Given the description of an element on the screen output the (x, y) to click on. 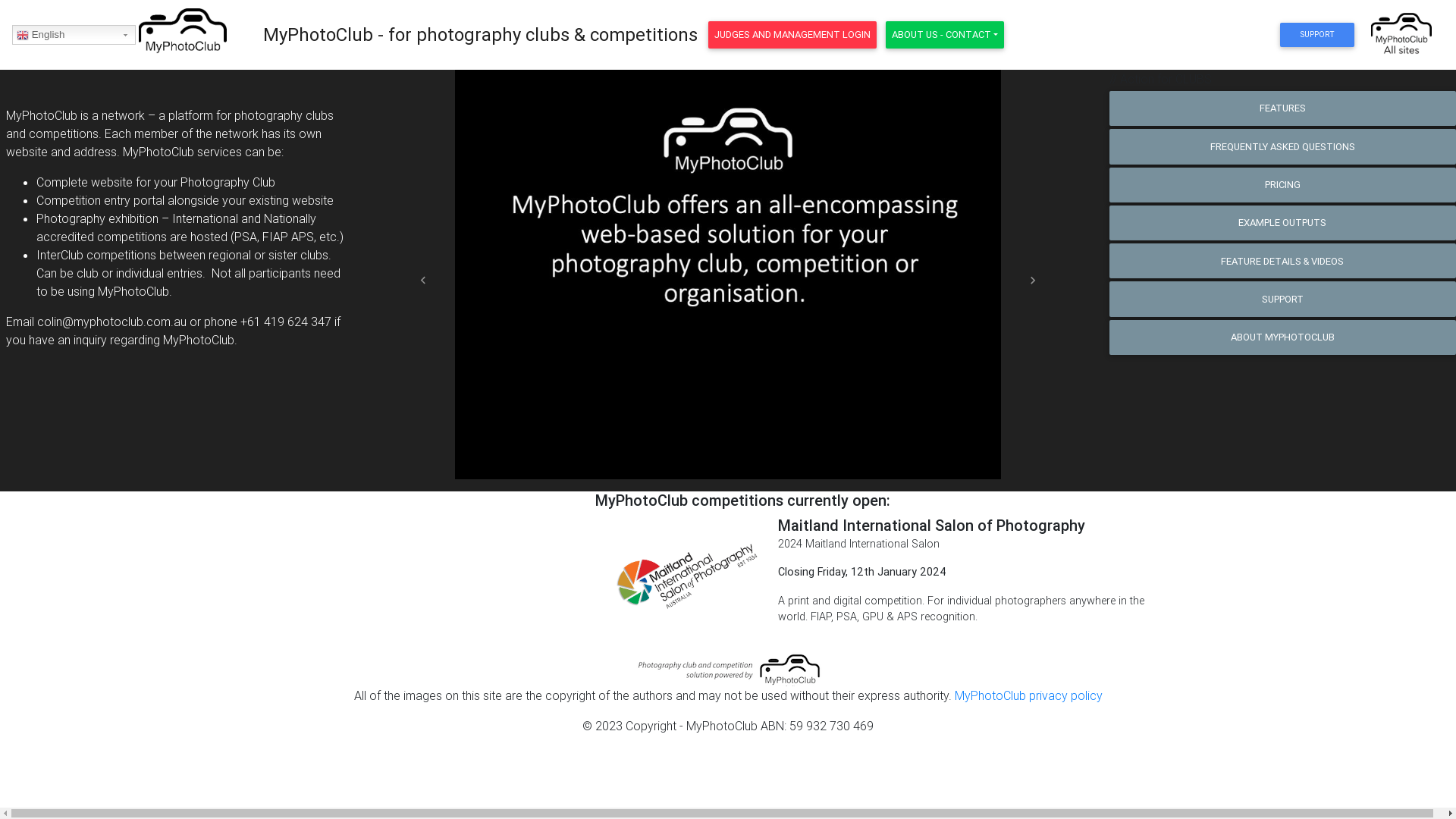
Next Element type: text (1032, 280)
Previous Element type: text (423, 280)
SUPPORT Element type: text (1316, 34)
English Element type: text (73, 34)
Maitland International Salon of Photography Element type: text (931, 524)
MyPhotoClub - for photography clubs & competitions Element type: text (480, 35)
JUDGES AND MANAGEMENT LOGIN Element type: text (792, 34)
ABOUT US - CONTACT Element type: text (944, 34)
MyPhotoClub privacy policy Element type: text (1027, 694)
